Given the description of an element on the screen output the (x, y) to click on. 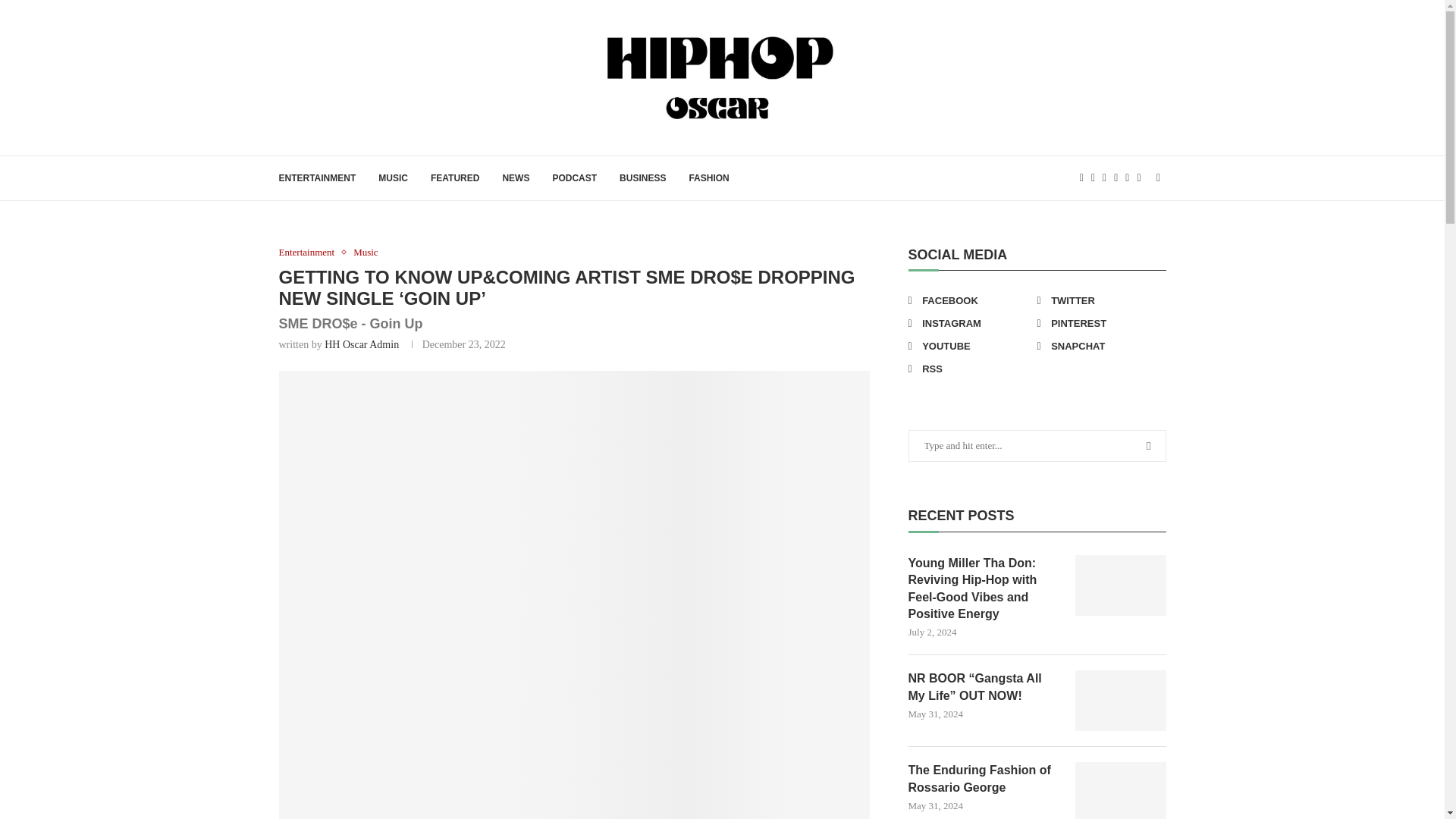
FASHION (708, 177)
FEATURED (454, 177)
BUSINESS (642, 177)
ENTERTAINMENT (317, 177)
Entertainment (310, 252)
PODCAST (573, 177)
HH Oscar Admin (361, 344)
Music (365, 252)
